Given the description of an element on the screen output the (x, y) to click on. 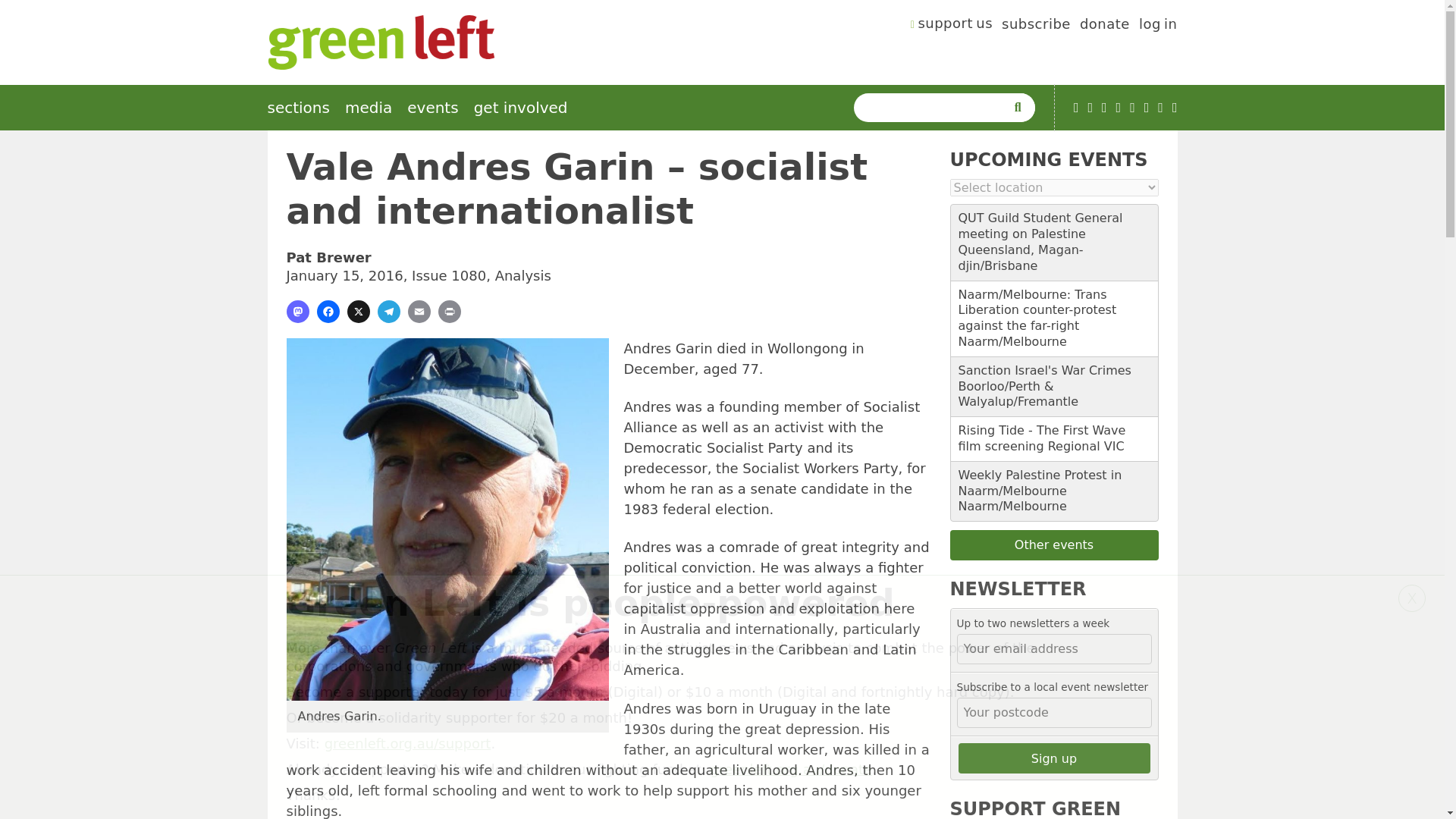
share via email (418, 311)
Print (449, 311)
Share on X (358, 311)
subscribe (1035, 26)
support us (951, 26)
events (432, 107)
Share on Telegram (388, 311)
Sign up (1054, 757)
Enter the terms you wish to search for. (932, 107)
donate (1104, 26)
